Given the description of an element on the screen output the (x, y) to click on. 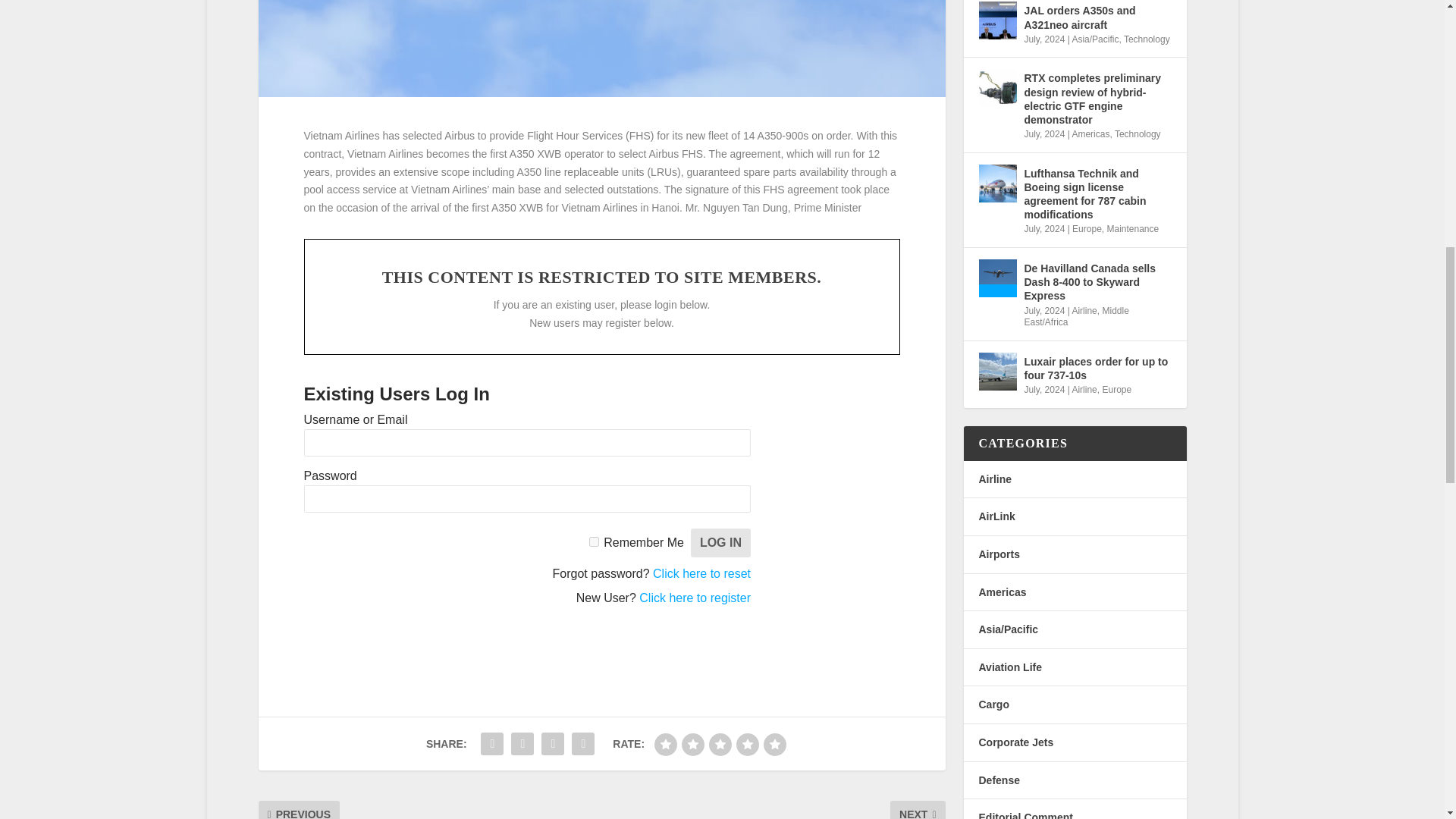
good (747, 744)
forever (593, 542)
poor (692, 744)
Log In (720, 542)
bad (665, 744)
regular (720, 744)
gorgeous (774, 744)
